Given the description of an element on the screen output the (x, y) to click on. 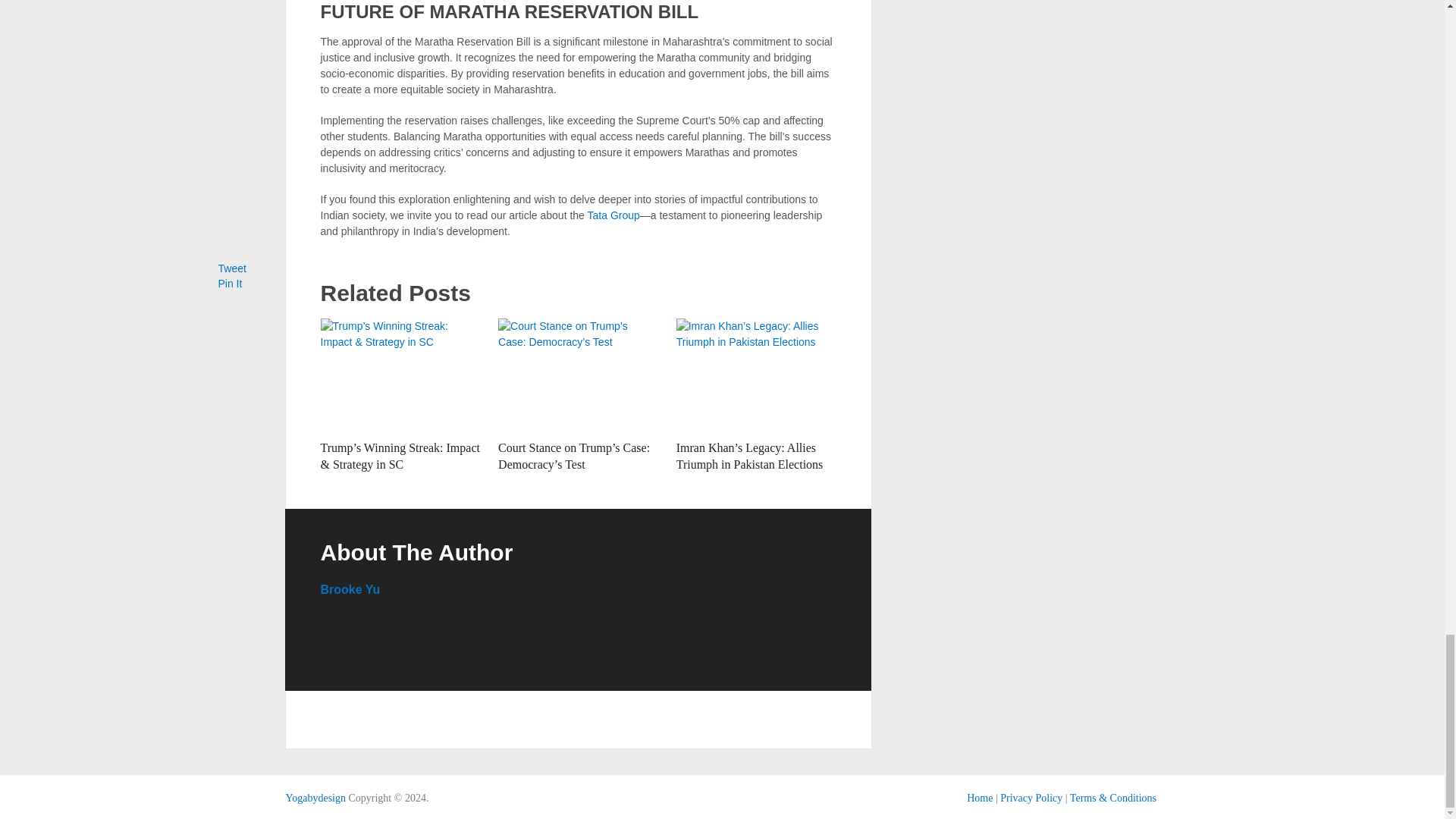
 Yogabydesign (315, 797)
